Given the description of an element on the screen output the (x, y) to click on. 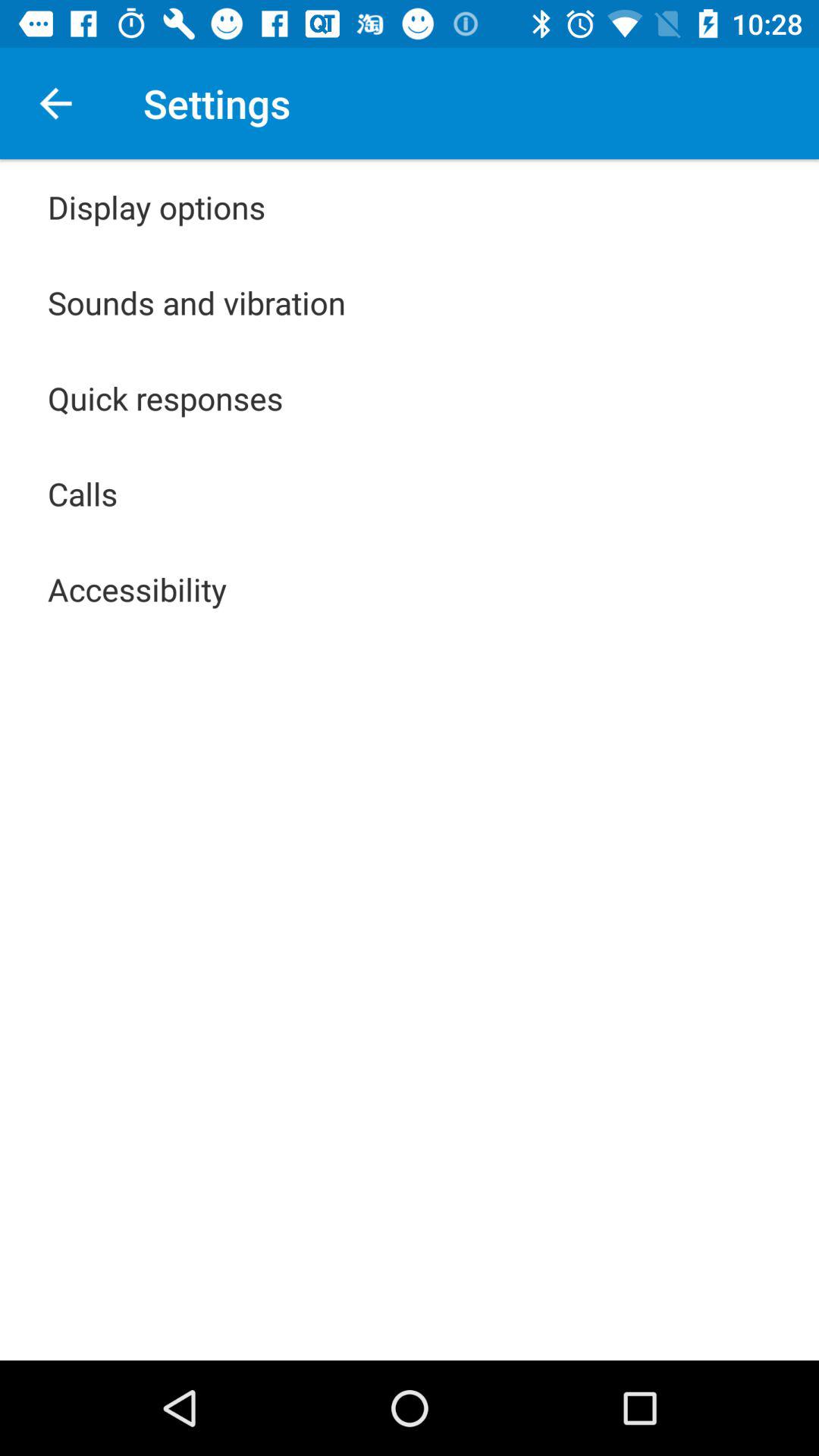
scroll until sounds and vibration app (196, 302)
